Given the description of an element on the screen output the (x, y) to click on. 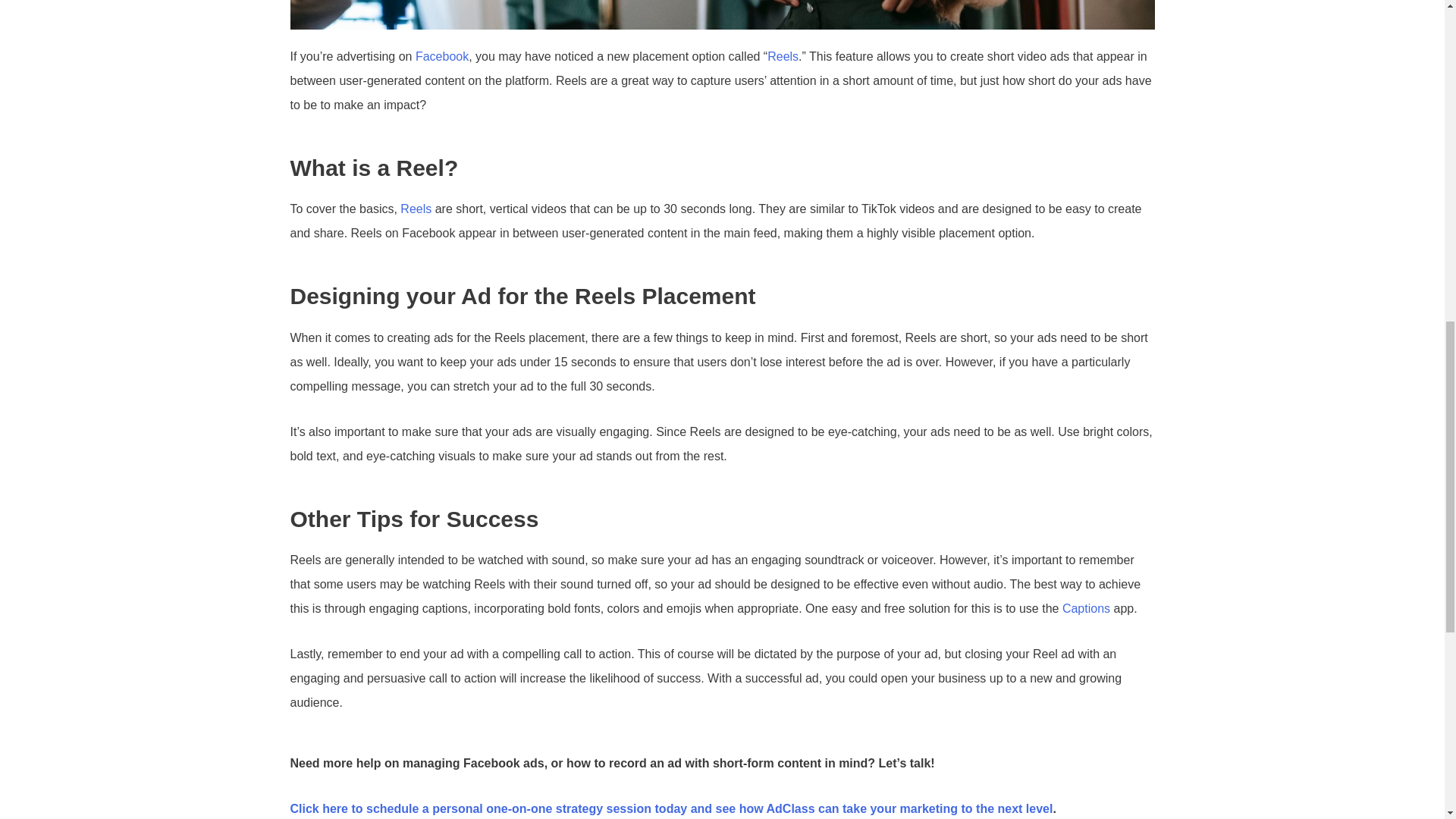
Captions (1085, 608)
Reels (782, 56)
Facebook (441, 56)
Reels (415, 208)
